Given the description of an element on the screen output the (x, y) to click on. 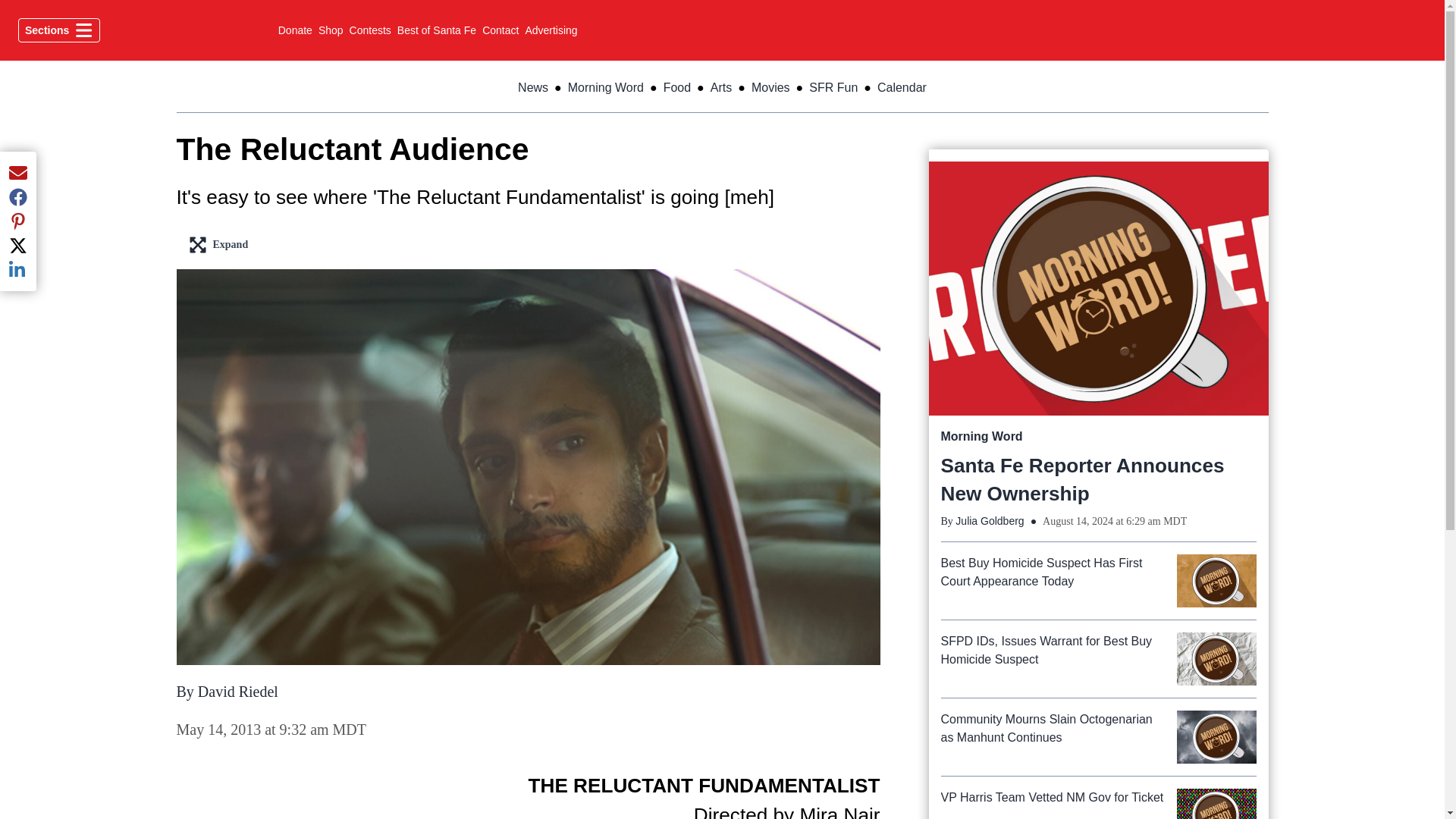
Advertising (550, 30)
Donate (295, 30)
Sections (58, 30)
Contact (499, 30)
Contests (370, 30)
Best of Santa Fe (436, 30)
